Given the description of an element on the screen output the (x, y) to click on. 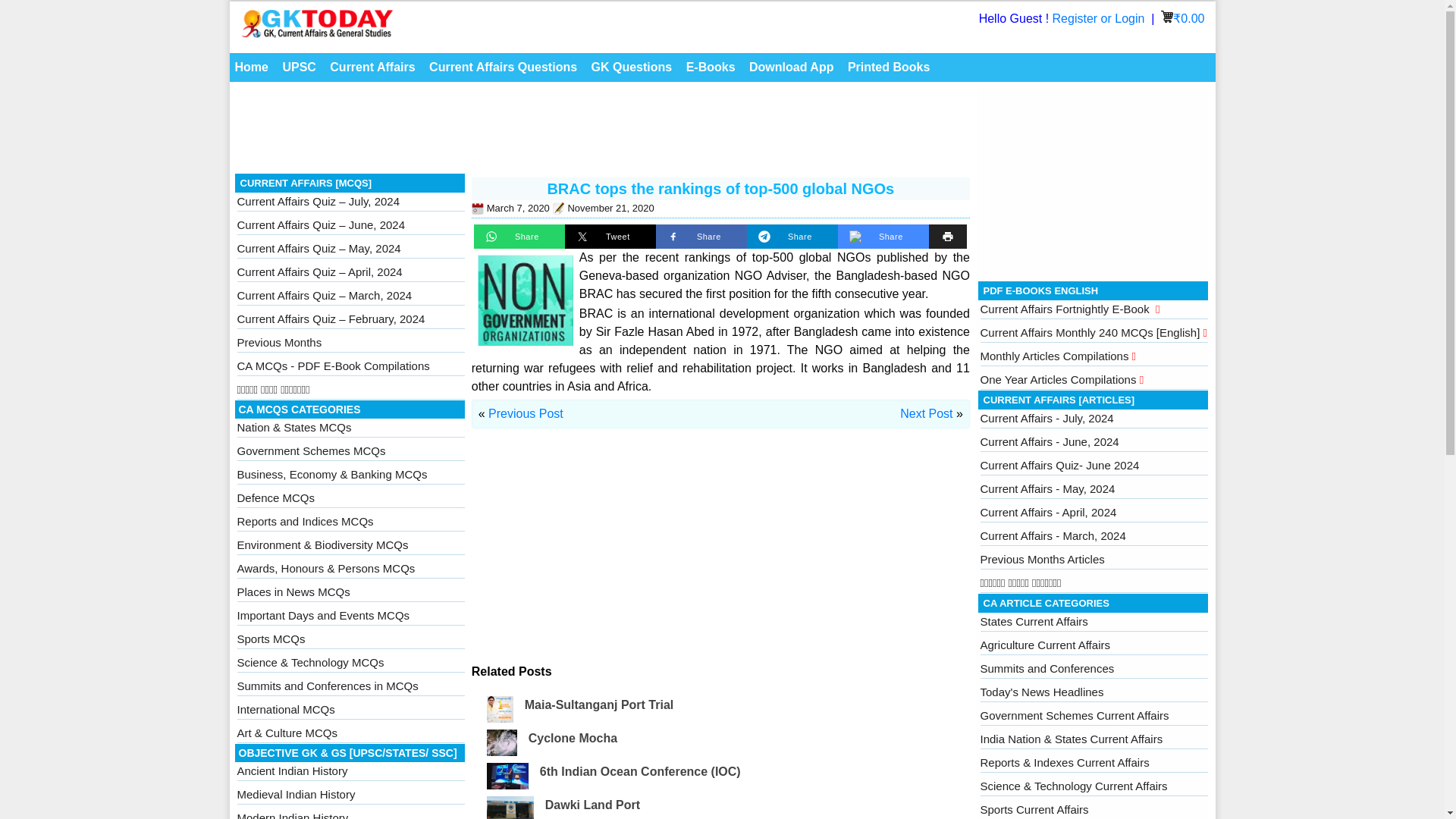
Cyclone Mocha (572, 738)
Advertisement (720, 556)
Dawki Land Port (592, 804)
Previous Post (525, 413)
Maia-Sultanganj Port Trial (598, 704)
Download App (791, 67)
Defence MCQs (274, 497)
Advertisement (602, 131)
Register or Login (1100, 18)
Next Post (925, 413)
Maia-Sultanganj Port Trial (598, 704)
Cyclone Mocha (572, 738)
Reports and Indices MCQs (303, 521)
Current Affairs (372, 67)
